Given the description of an element on the screen output the (x, y) to click on. 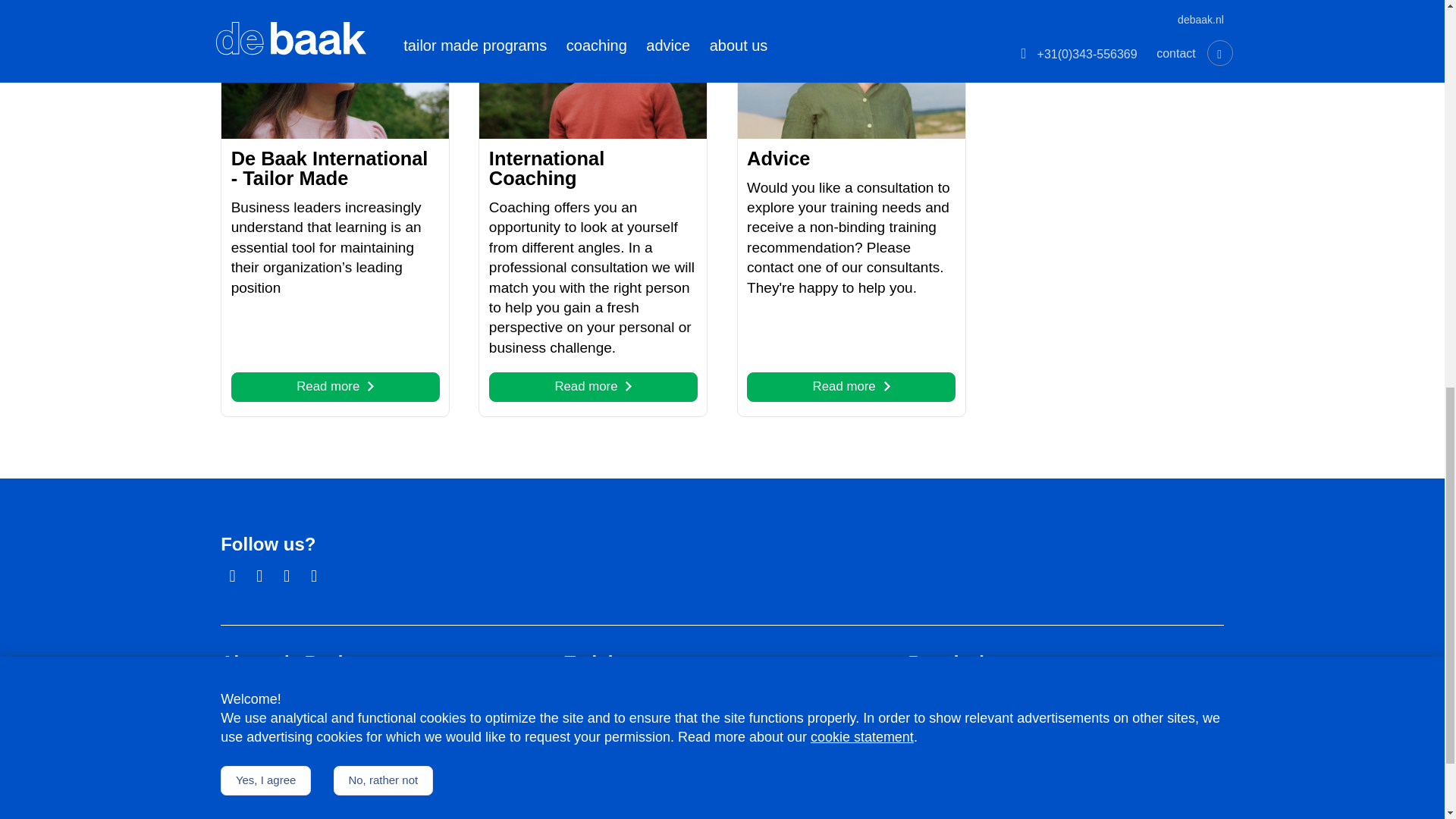
Tailor made (256, 721)
Advice (777, 158)
Twitter (286, 576)
Terms and Conditions (402, 817)
LinkedIn (850, 387)
Privacy Statement (335, 387)
Advice (258, 576)
